Given the description of an element on the screen output the (x, y) to click on. 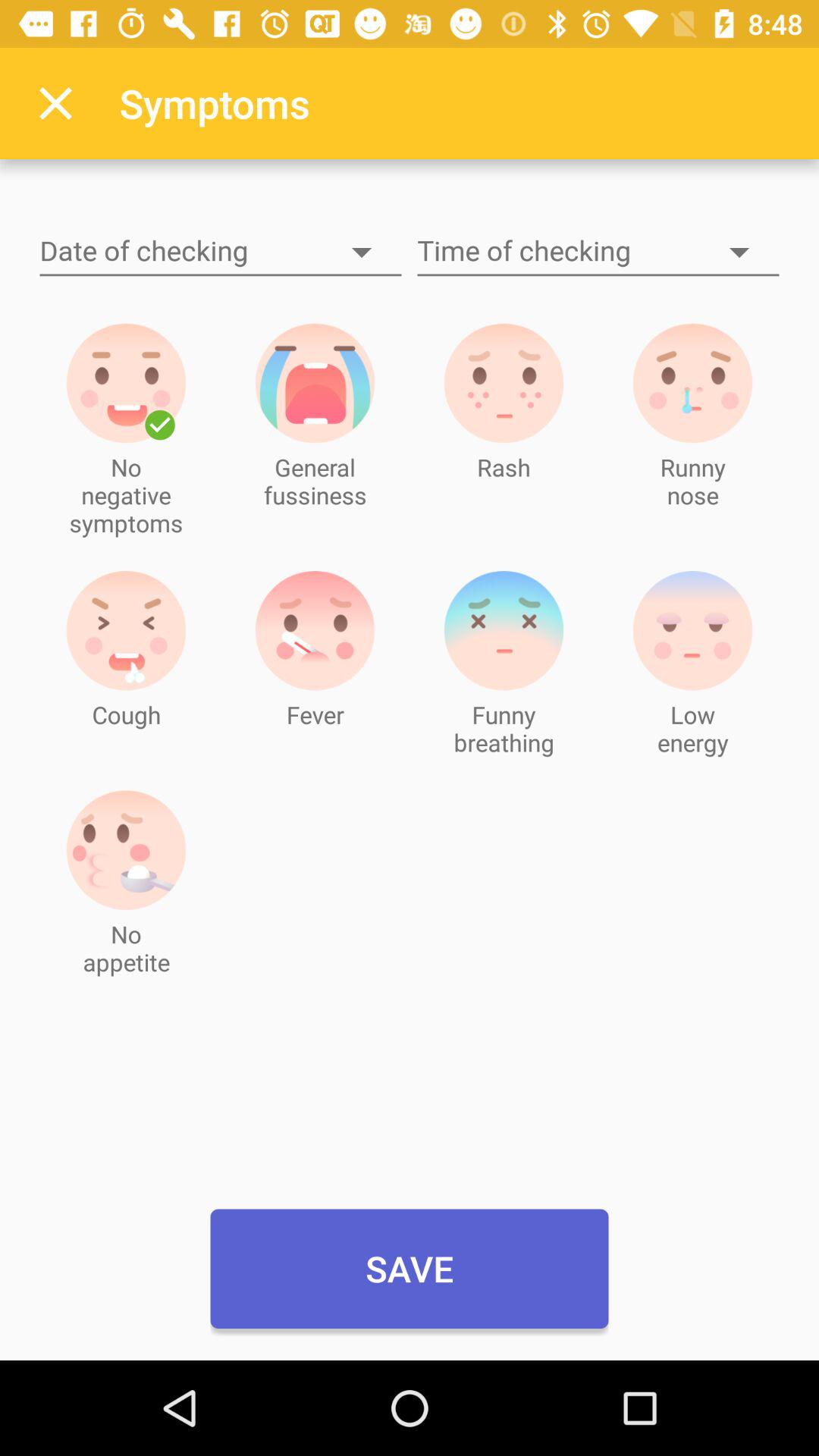
select date (220, 251)
